Given the description of an element on the screen output the (x, y) to click on. 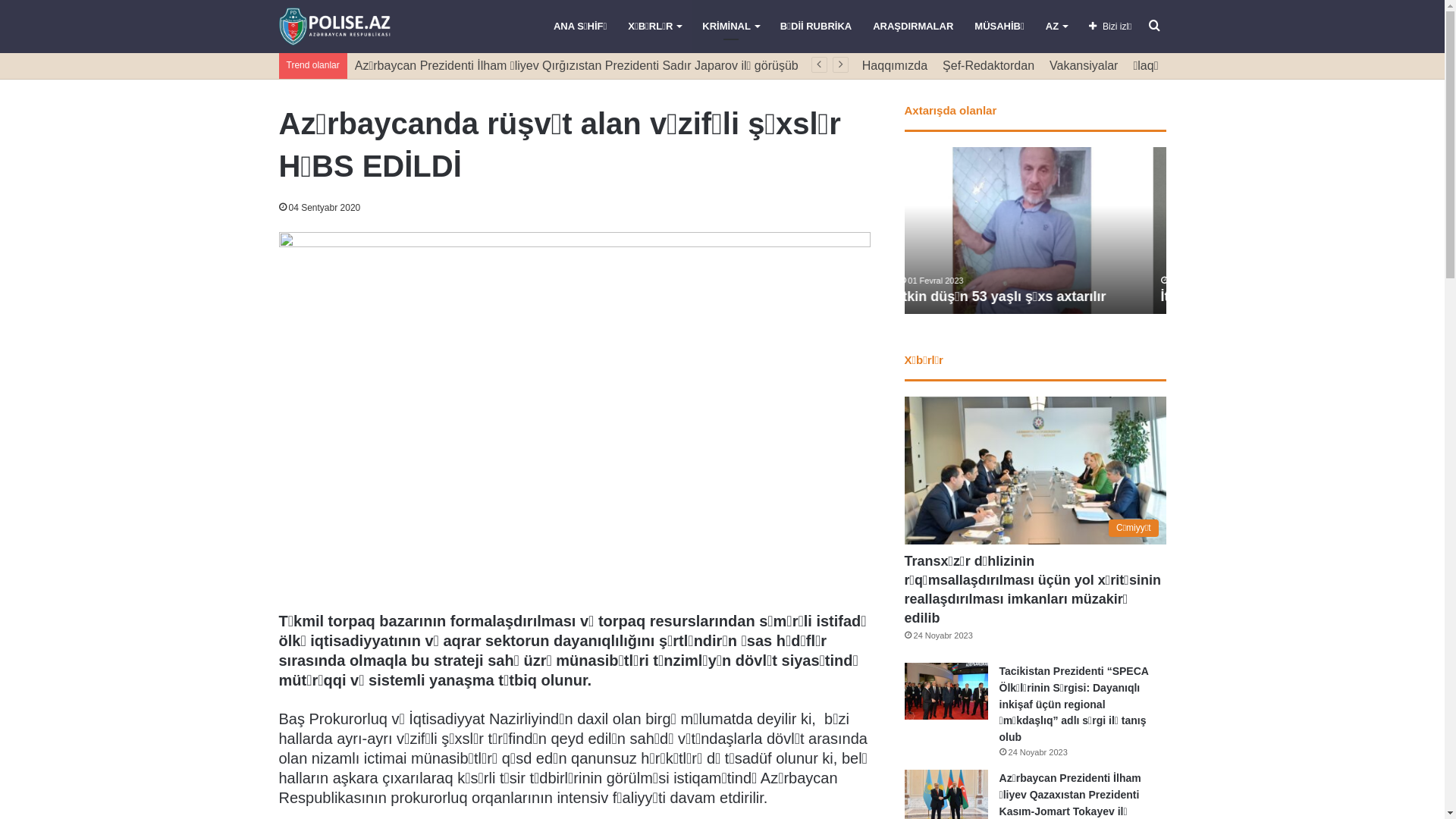
Polise.az Element type: hover (335, 26)
KRIMINAL Element type: text (730, 26)
Vakansiyalar Element type: text (1083, 65)
AZ Element type: text (1056, 26)
